Given the description of an element on the screen output the (x, y) to click on. 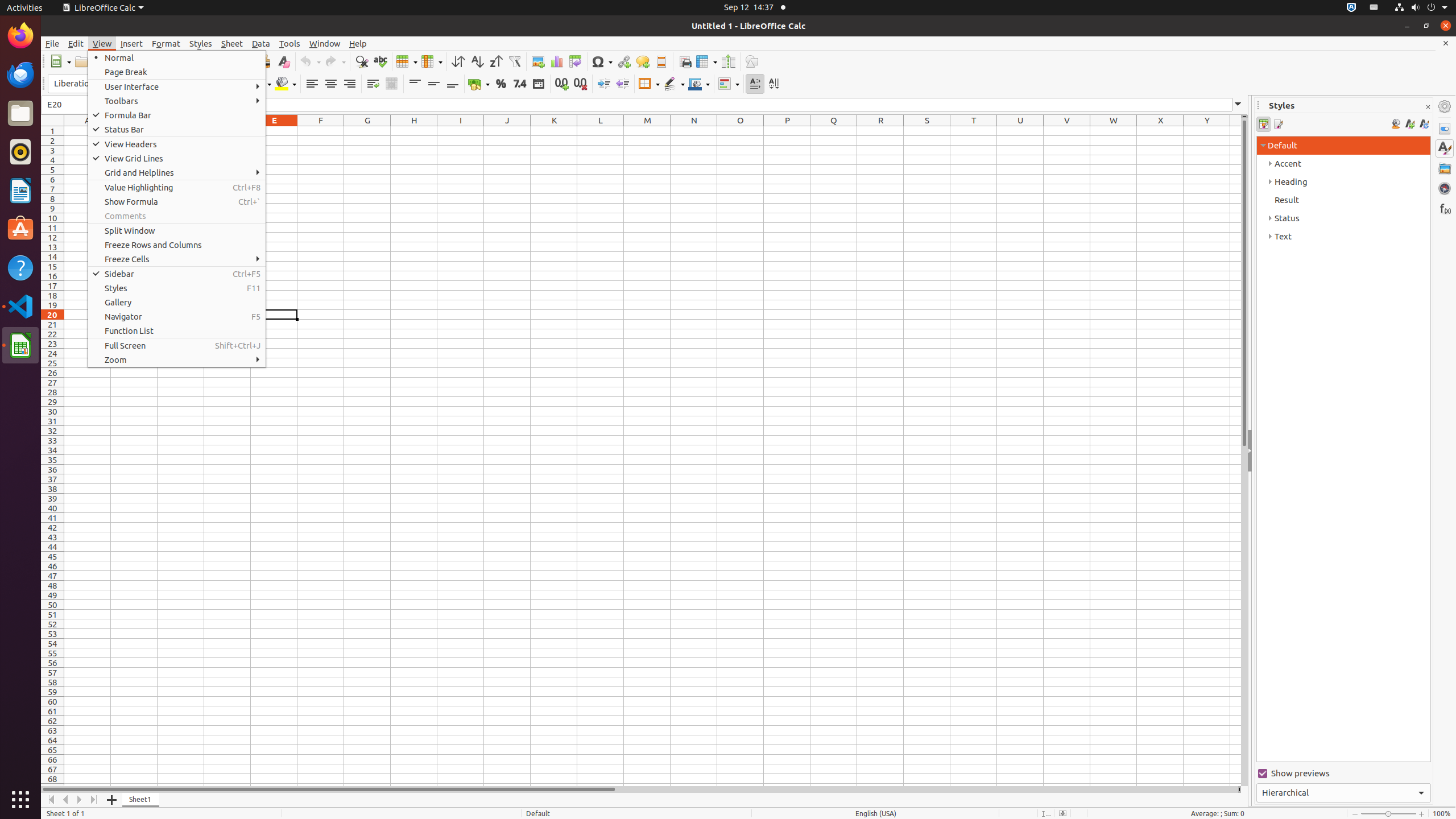
Cell Styles Element type: push-button (1263, 123)
Gallery Element type: menu-item (176, 302)
Page Styles Element type: push-button (1277, 123)
Sort Ascending Element type: push-button (476, 61)
Text direction from top to bottom Element type: toggle-button (773, 83)
